Given the description of an element on the screen output the (x, y) to click on. 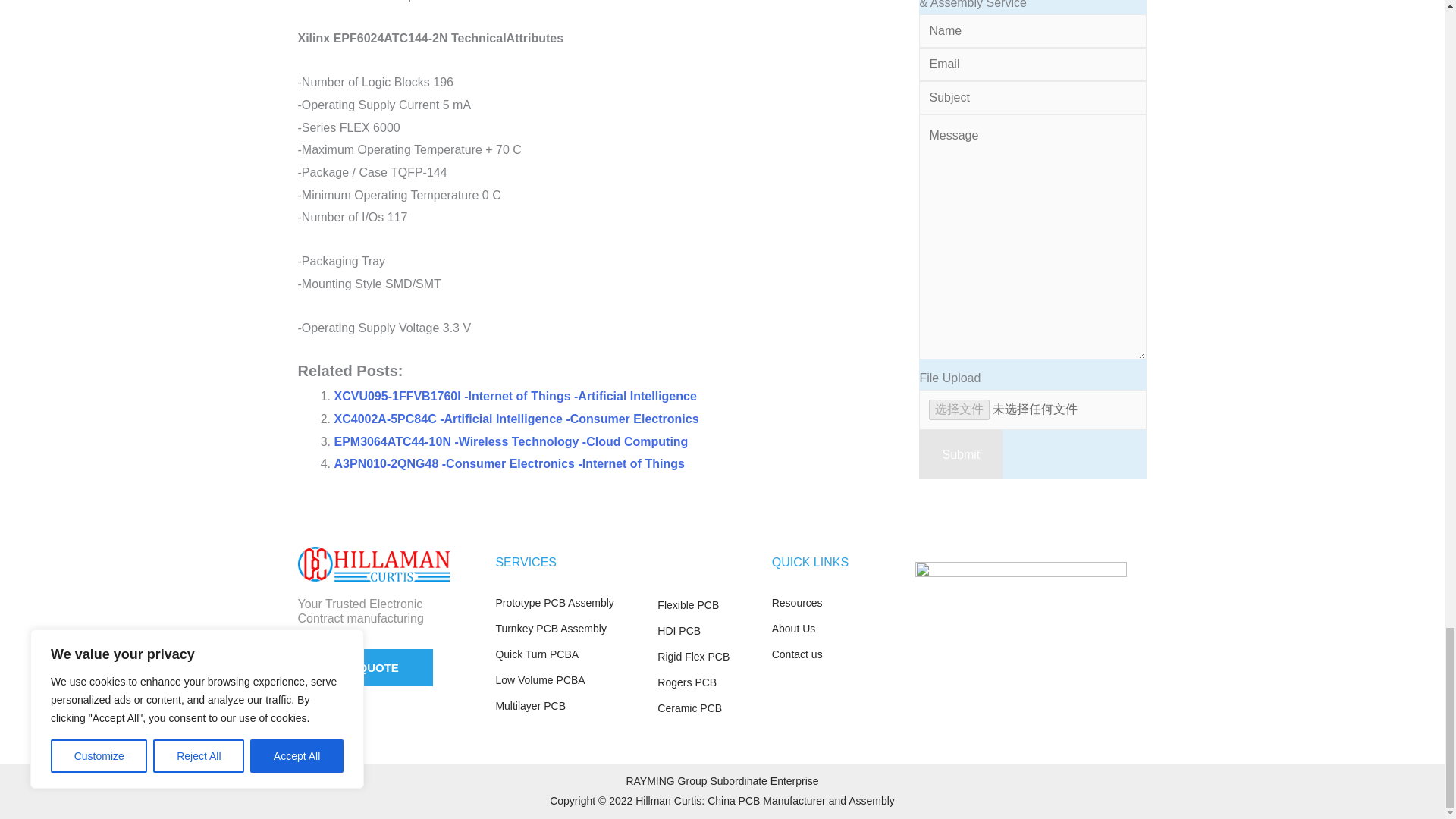
EPM3064ATC44-10N -Wireless Technology -Cloud Computing (510, 440)
A3PN010-2QNG48 -Consumer Electronics -Internet of Things (508, 463)
